Given the description of an element on the screen output the (x, y) to click on. 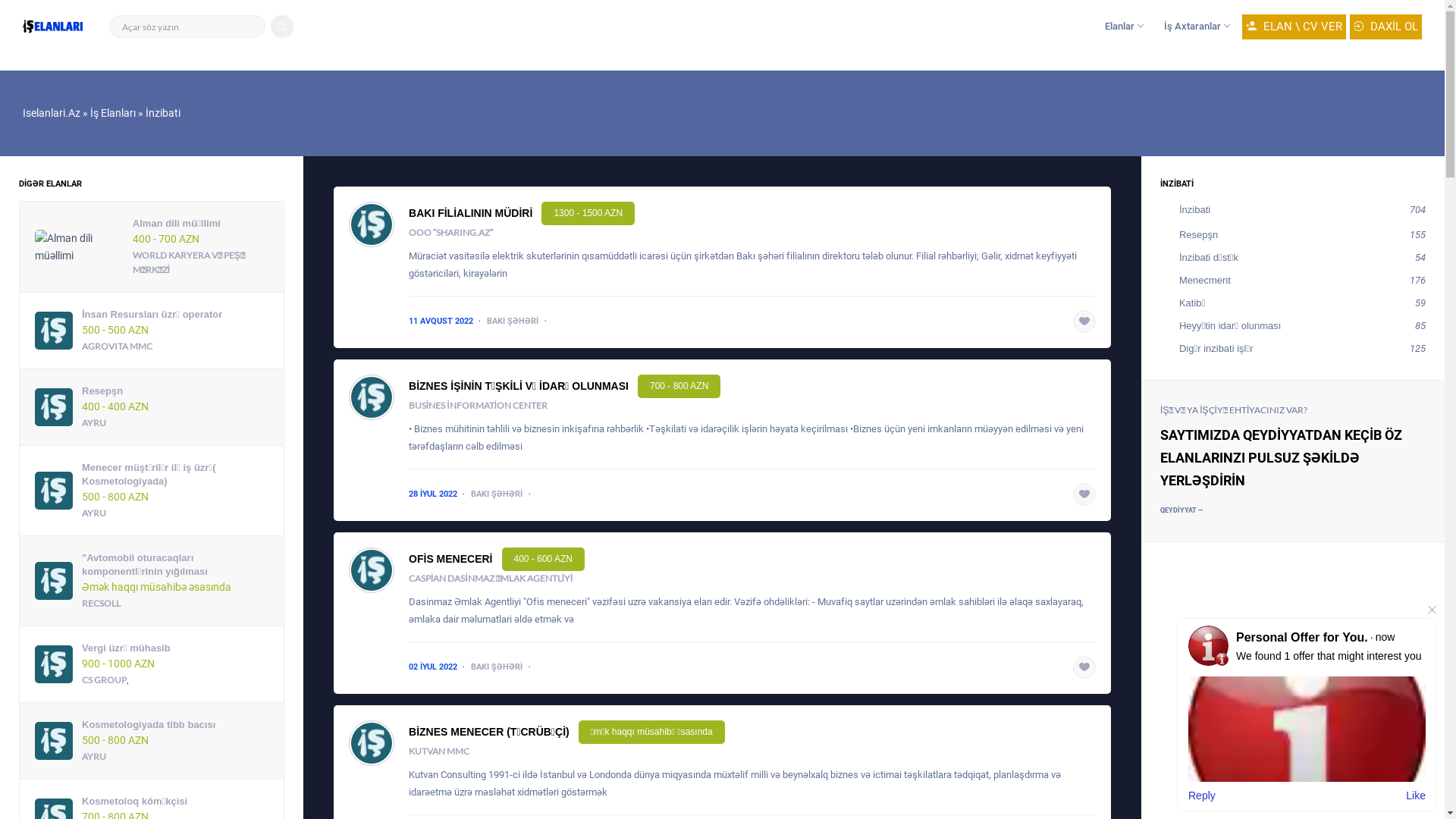
OFIS MENECERI Element type: text (450, 558)
AGROVITA MMC Element type: text (116, 345)
ELAN \ CV VER Element type: text (1294, 25)
Iselanlari.Az Element type: text (51, 112)
AYRU Element type: text (93, 422)
QEYDIYYAT Element type: text (1181, 510)
AYRU Element type: text (93, 512)
Menecment Element type: text (1202, 279)
AYRU Element type: text (93, 756)
RECSOLL Element type: text (100, 602)
Elanlar Element type: text (1122, 26)
CS GROUP Element type: text (103, 679)
KUTVAN MMC Element type: text (438, 750)
